Given the description of an element on the screen output the (x, y) to click on. 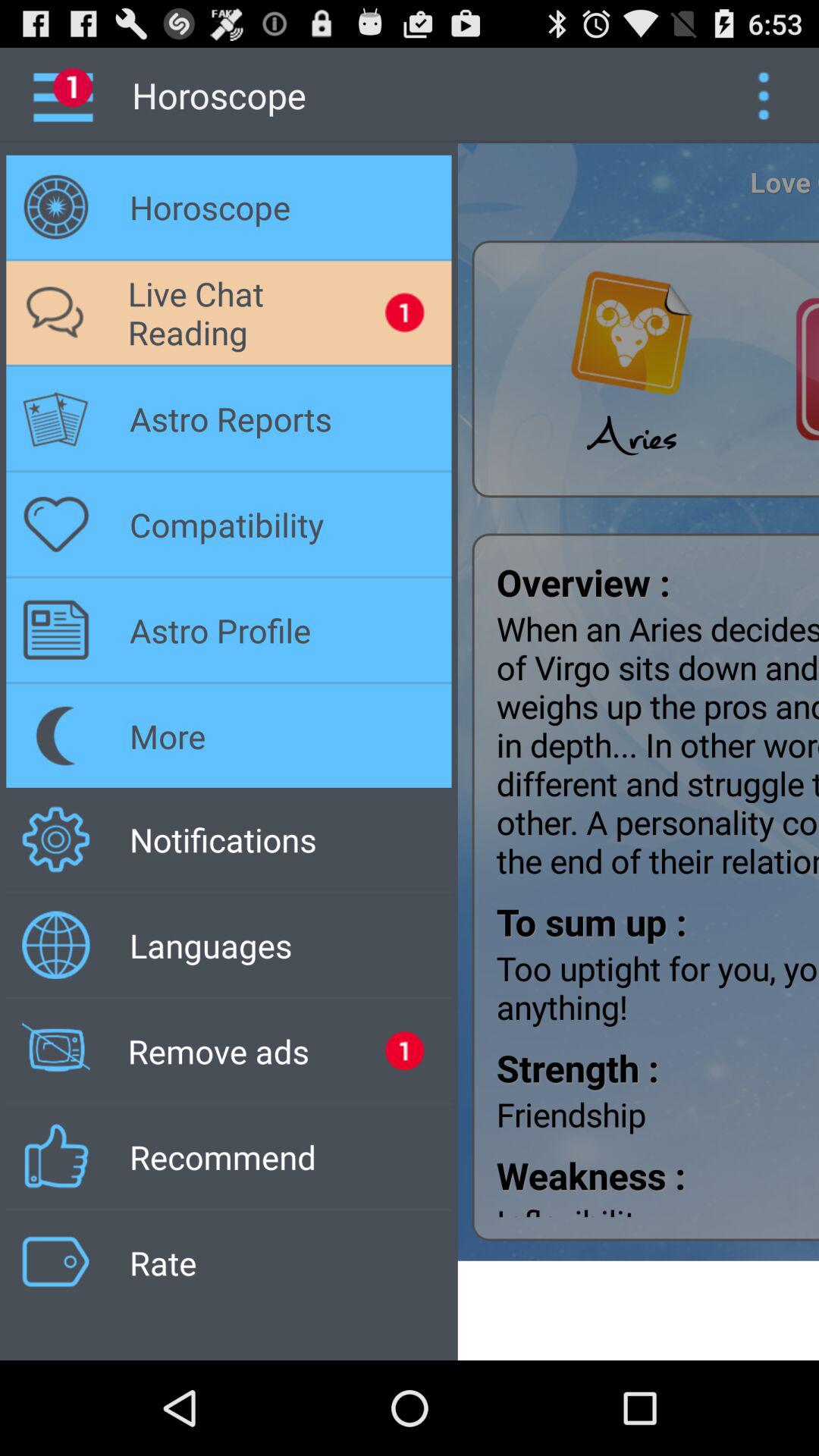
turn off app to the right of horoscope icon (763, 95)
